Given the description of an element on the screen output the (x, y) to click on. 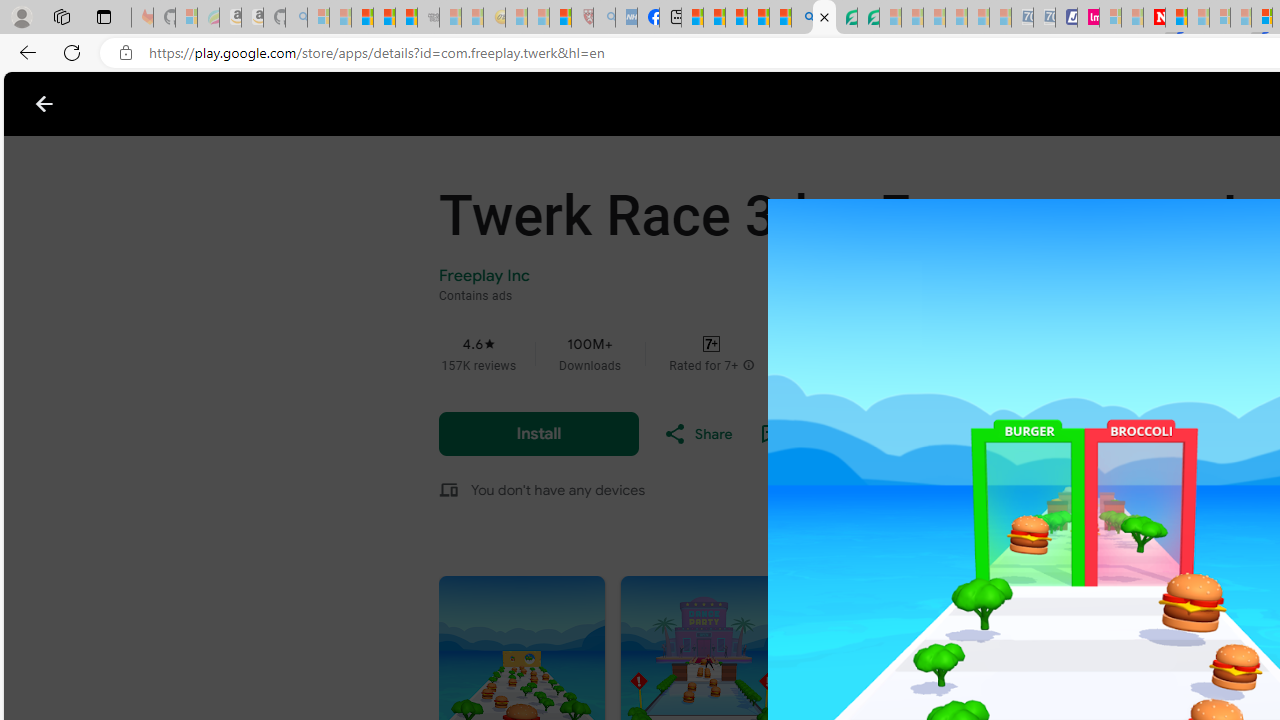
Latest Politics News & Archive | Newsweek.com (1154, 17)
Apps (325, 104)
You don't have any devices (558, 489)
Pets - MSN (758, 17)
